Given the description of an element on the screen output the (x, y) to click on. 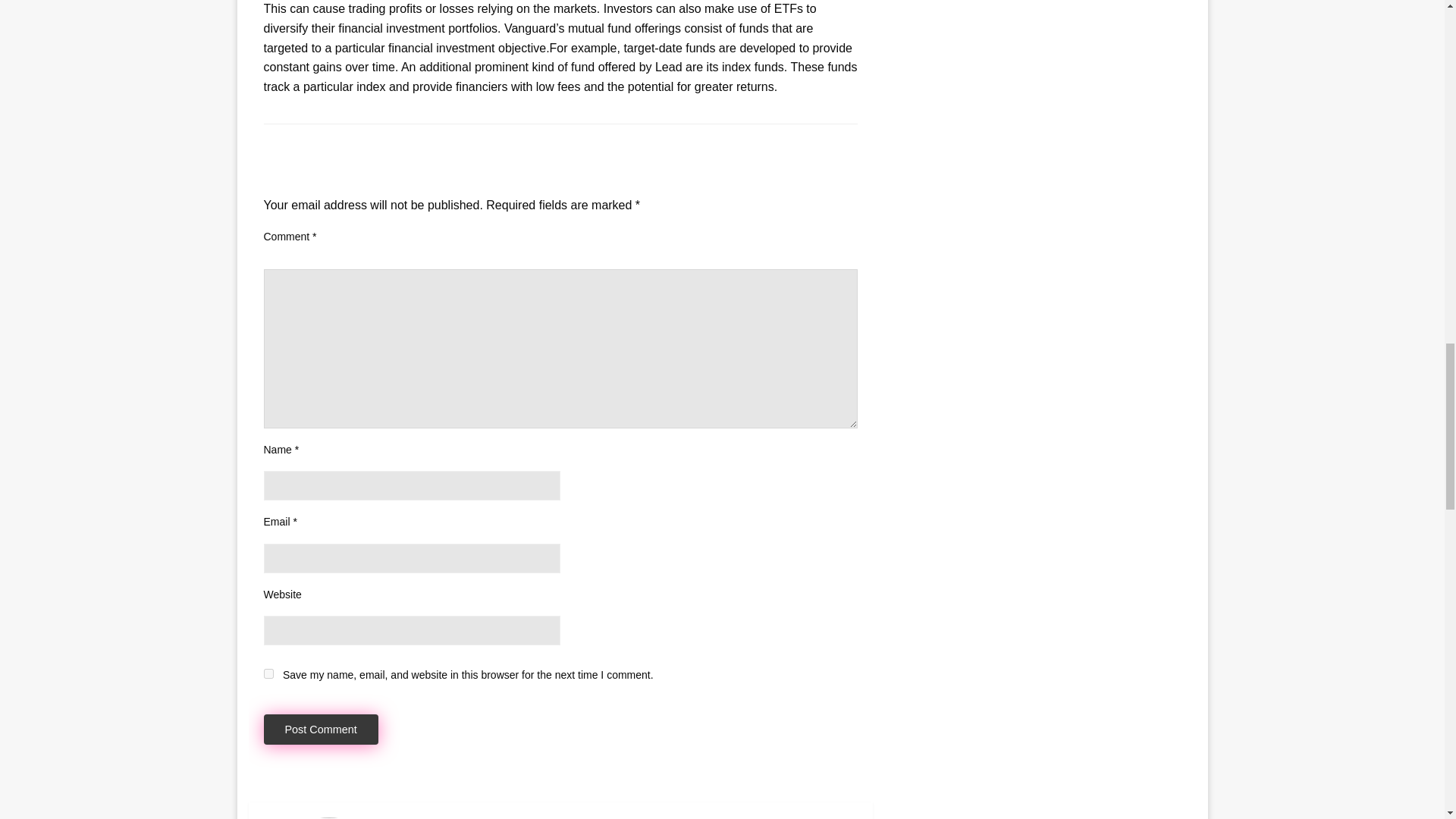
Post Comment (320, 729)
yes (268, 673)
Post Comment (320, 729)
